Given the description of an element on the screen output the (x, y) to click on. 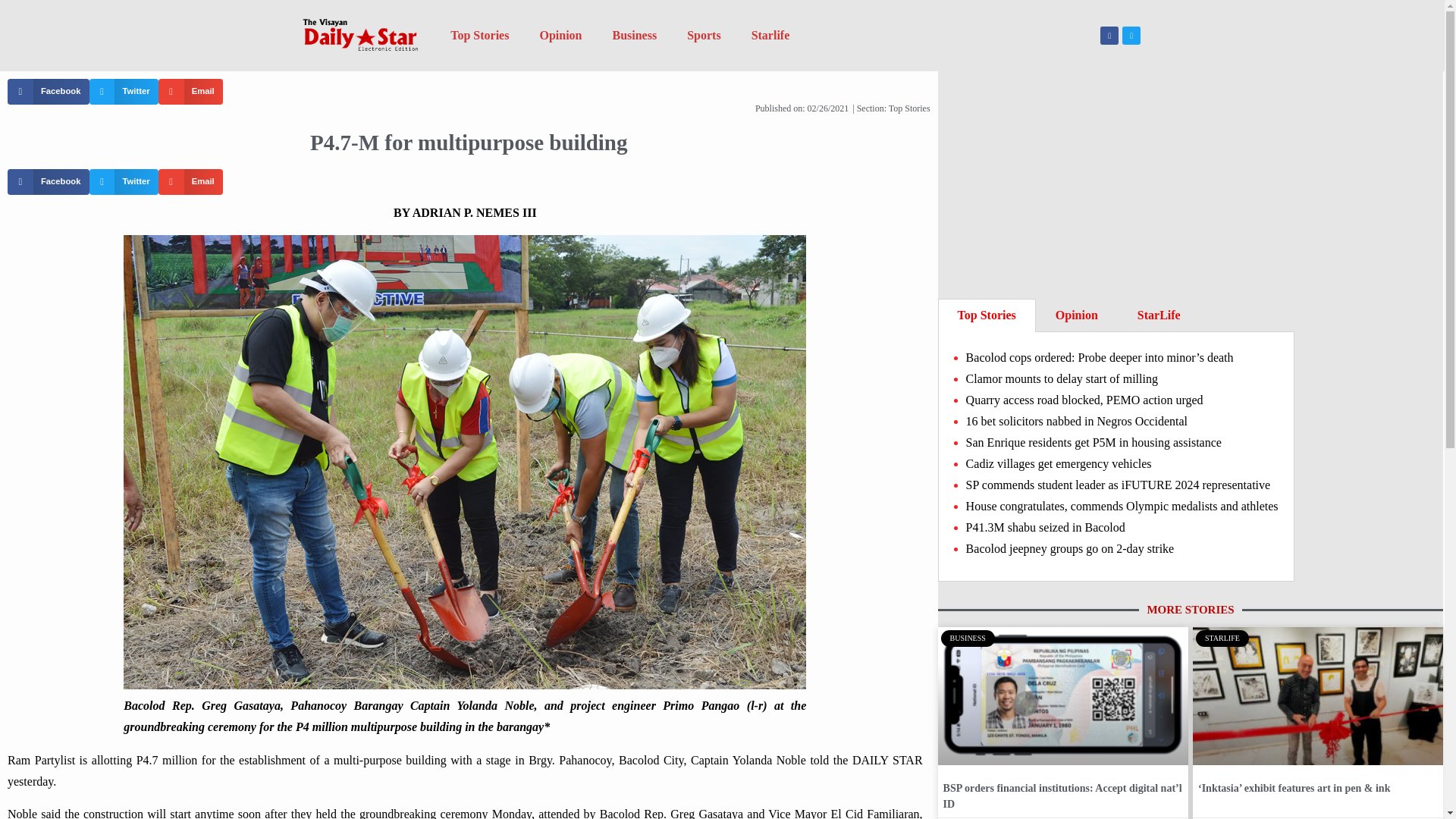
Clamor mounts to delay start of milling (1061, 378)
Top Stories (987, 314)
StarLife (1158, 314)
Opinion (1076, 314)
Starlife (770, 35)
Sports (703, 35)
16 bet solicitors nabbed in Negros Occidental (1077, 420)
House congratulates, commends Olympic medalists and athletes (1122, 505)
SP commends student leader as iFUTURE 2024 representative (1118, 484)
Opinion (560, 35)
